Given the description of an element on the screen output the (x, y) to click on. 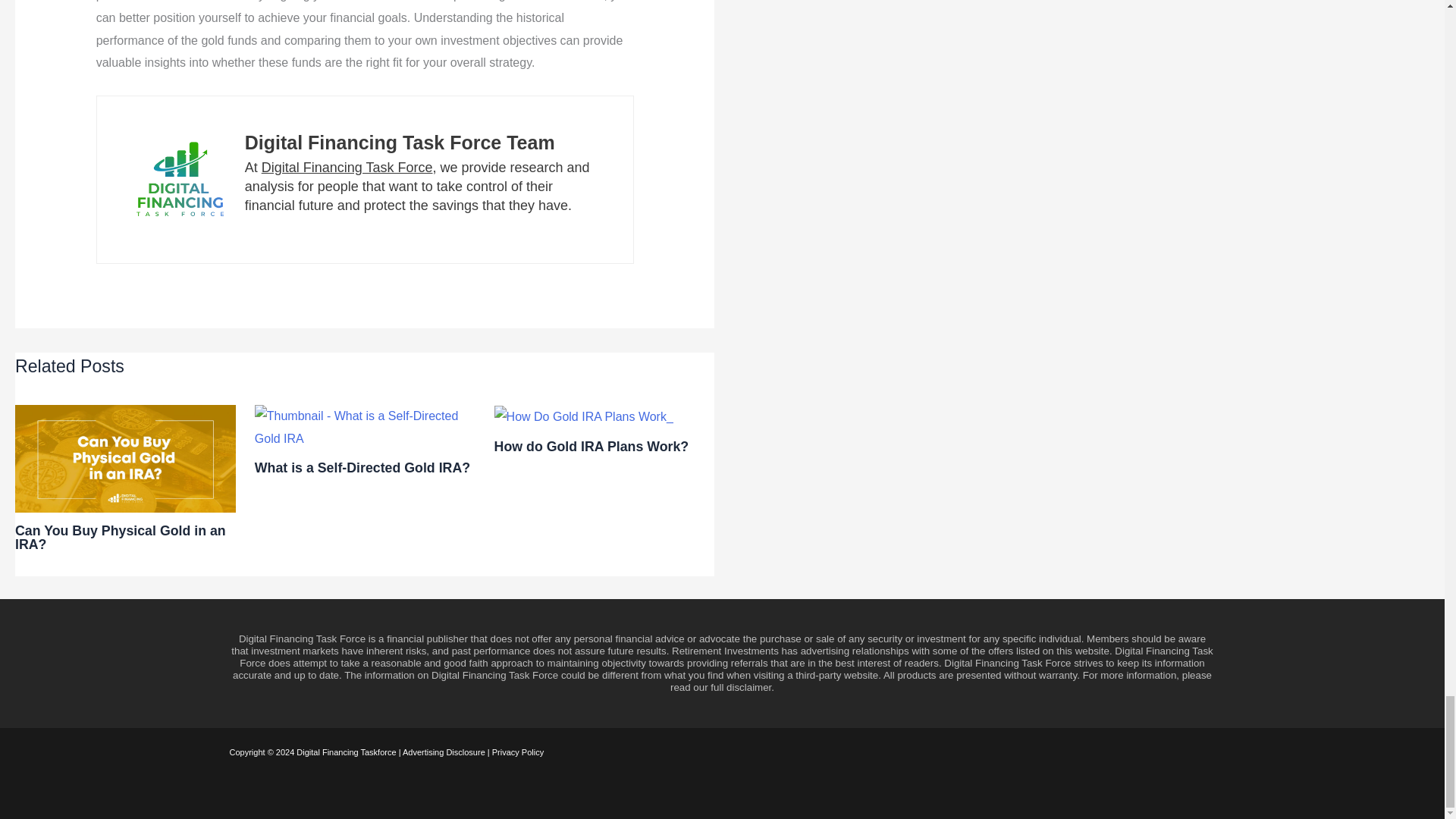
What is a Self-Directed Gold IRA? (362, 467)
Digital Financing Task Force Team (399, 142)
Can You Buy Physical Gold in an IRA? (119, 537)
Digital Financing Task Force (347, 167)
